Given the description of an element on the screen output the (x, y) to click on. 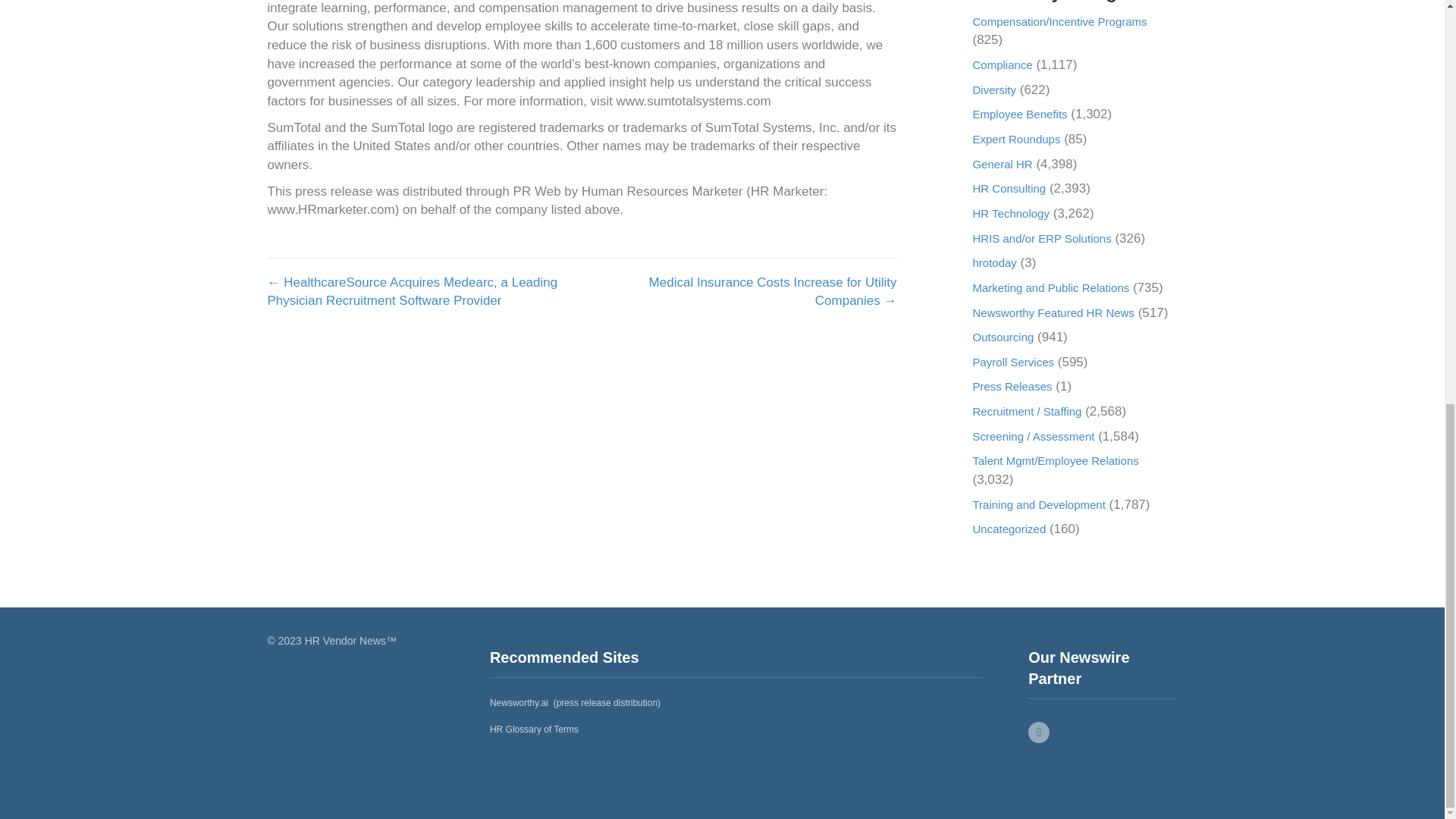
Press Releases (1011, 386)
HR Glossary of Terms (533, 728)
General HR (1002, 164)
Training and Development (1038, 504)
Employee Benefits (1019, 113)
Diversity (994, 89)
Uncategorized (1008, 528)
Compliance (1002, 64)
hrotoday (994, 262)
Expert Roundups (1015, 138)
